Given the description of an element on the screen output the (x, y) to click on. 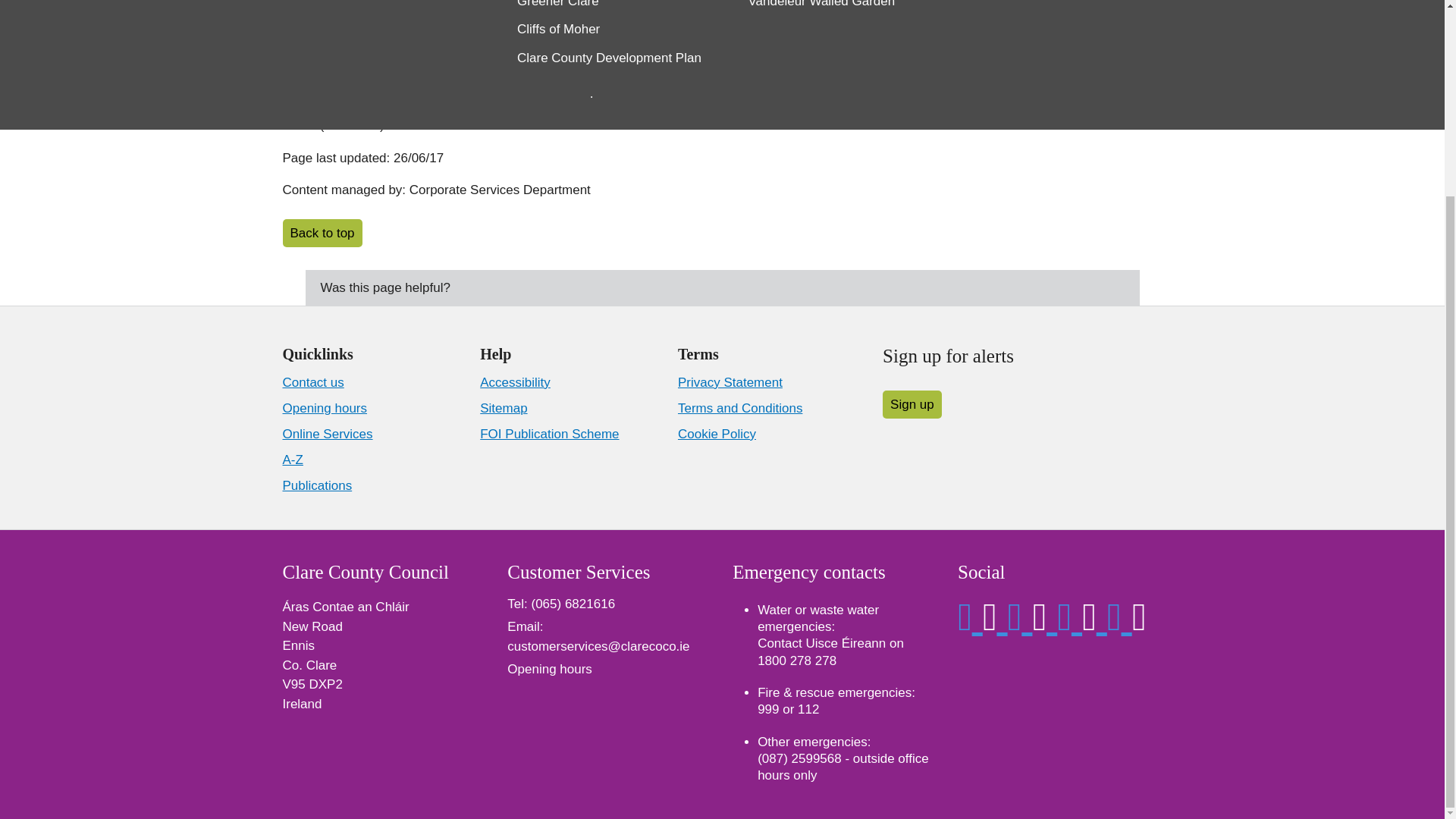
Employee Extranet (841, 29)
Governance and compliance (609, 58)
Employee Extranet (841, 29)
Voting and Electoral Register (841, 7)
Forms (609, 29)
Governance and compliance (609, 58)
Voting and Electoral Register (841, 7)
Departments (609, 7)
Forms (609, 29)
Property management (841, 74)
